Given the description of an element on the screen output the (x, y) to click on. 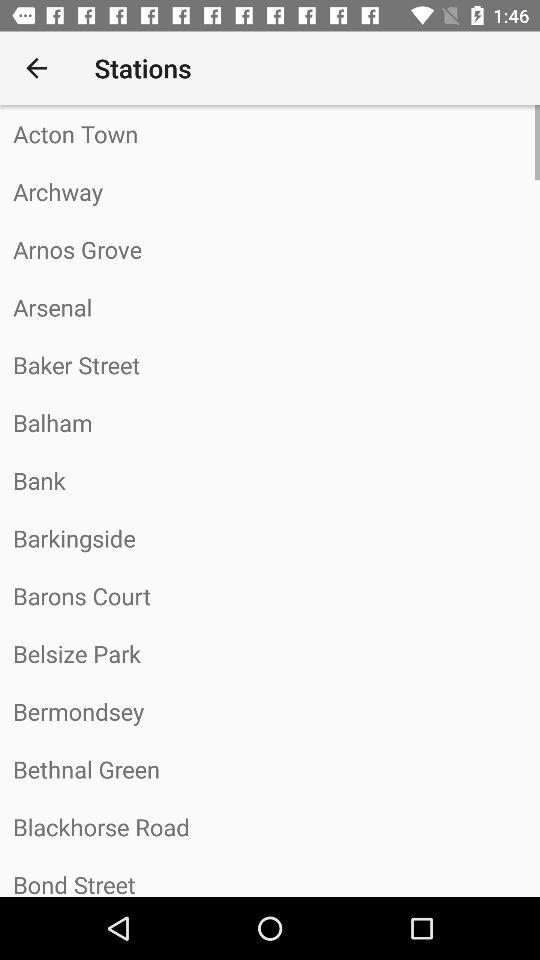
launch item below the bank (270, 538)
